Given the description of an element on the screen output the (x, y) to click on. 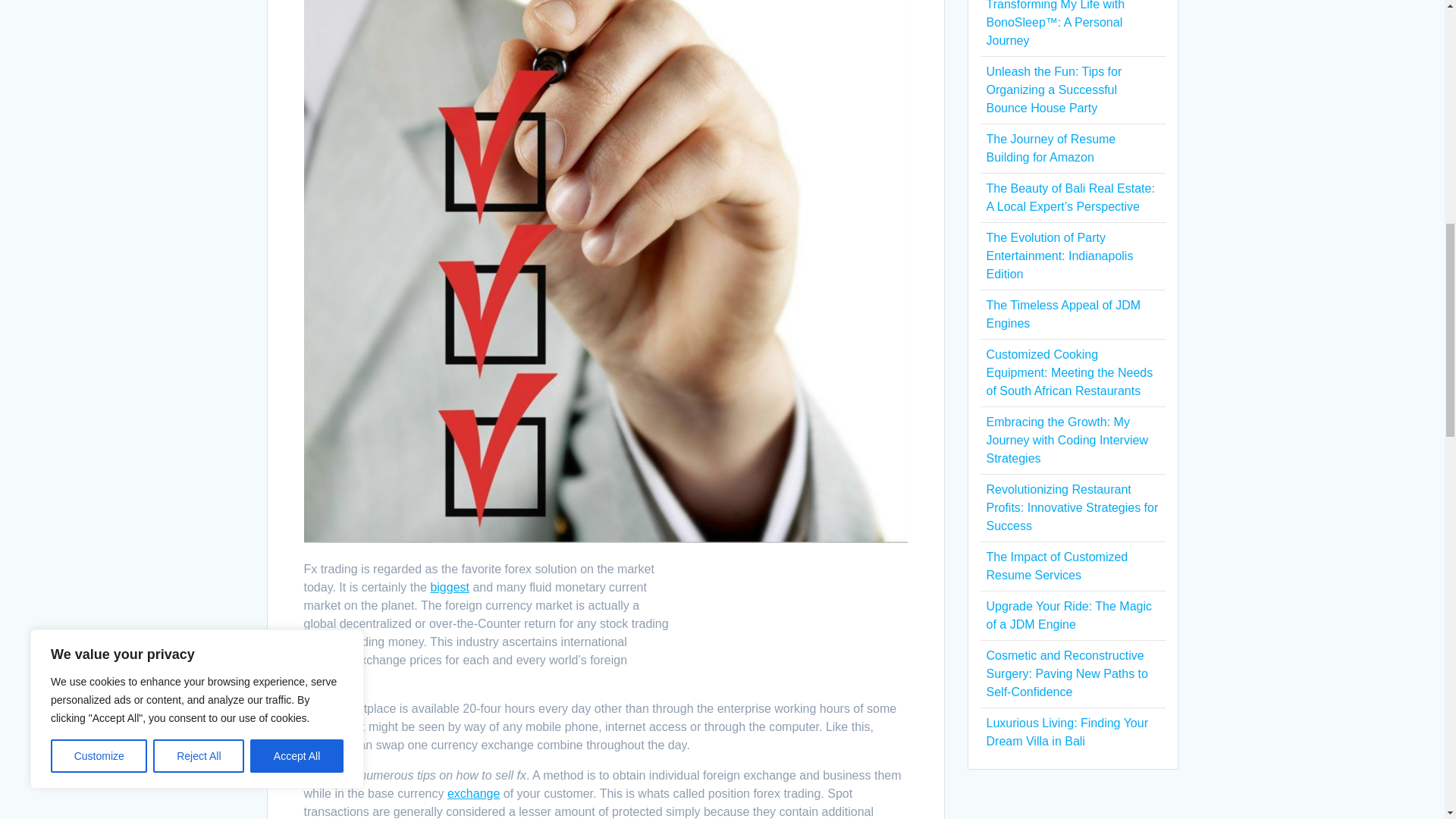
The Journey of Resume Building for Amazon (1050, 147)
biggest (448, 586)
The Evolution of Party Entertainment: Indianapolis Edition (1058, 255)
exchange (472, 793)
The Timeless Appeal of JDM Engines (1062, 314)
